Given the description of an element on the screen output the (x, y) to click on. 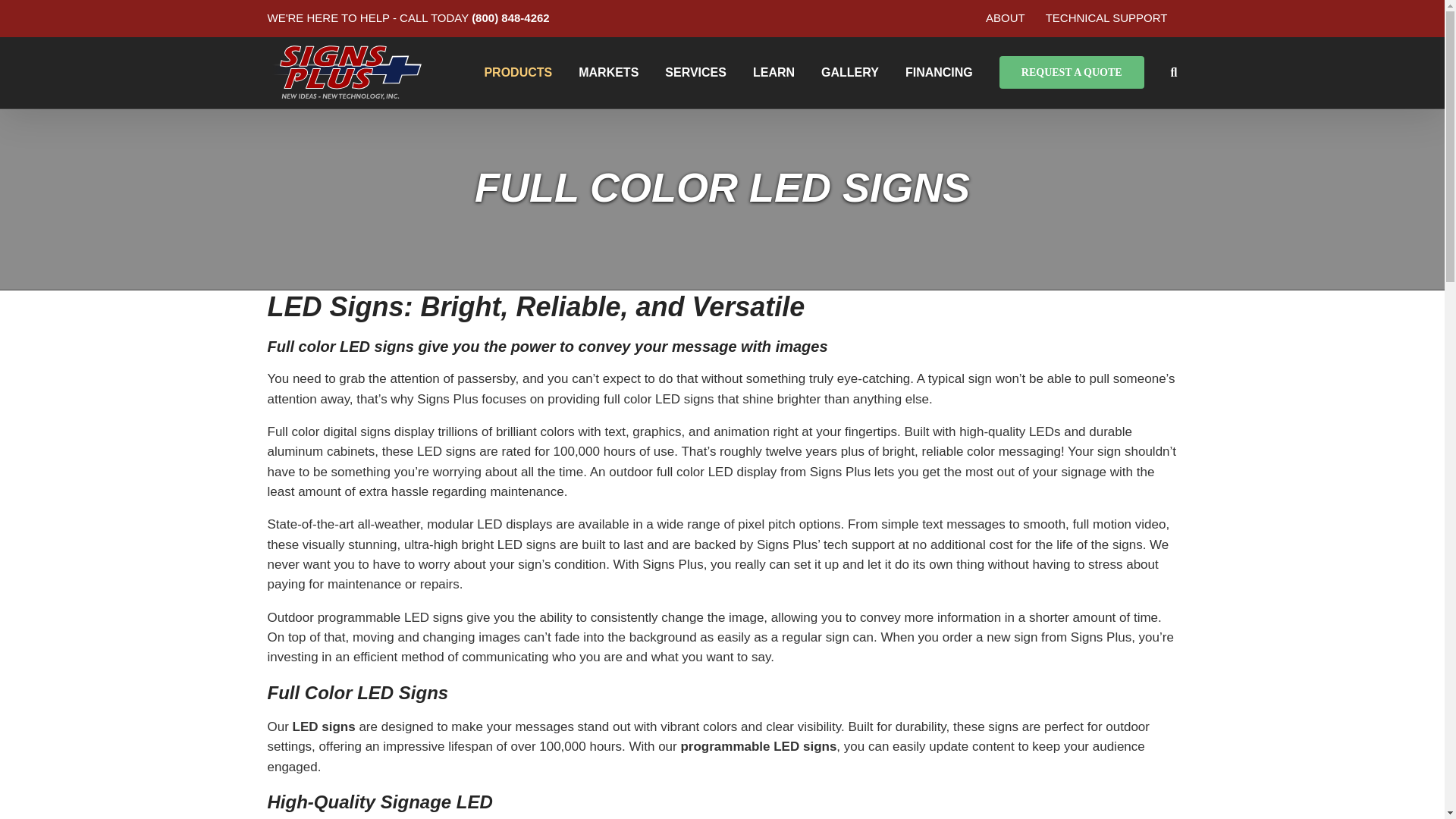
TECHNICAL SUPPORT (1106, 18)
PRODUCTS (517, 71)
Search (1173, 71)
LED Signs, Changeable Copy Signs and more! (517, 71)
ABOUT (1005, 18)
MARKETS (608, 71)
